Given the description of an element on the screen output the (x, y) to click on. 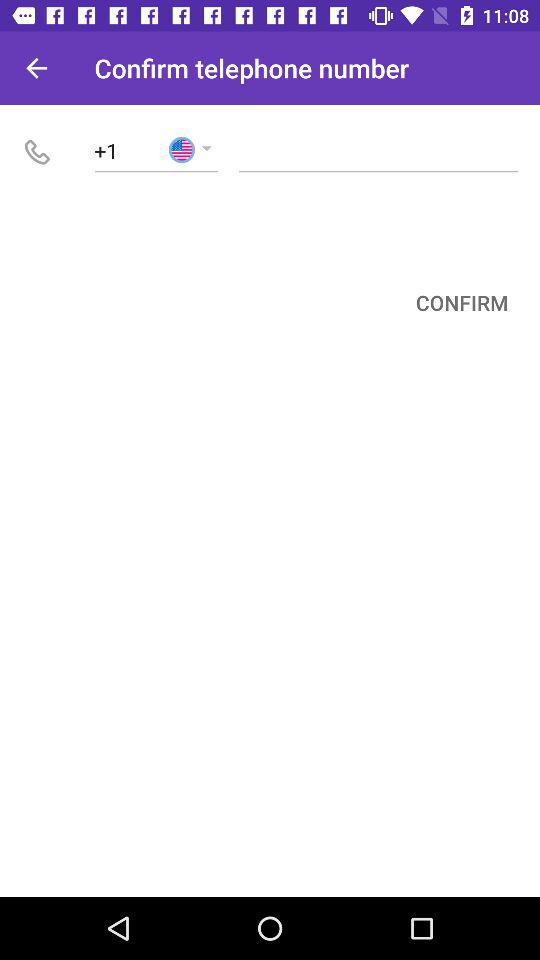
open icon next to confirm telephone number item (36, 68)
